Given the description of an element on the screen output the (x, y) to click on. 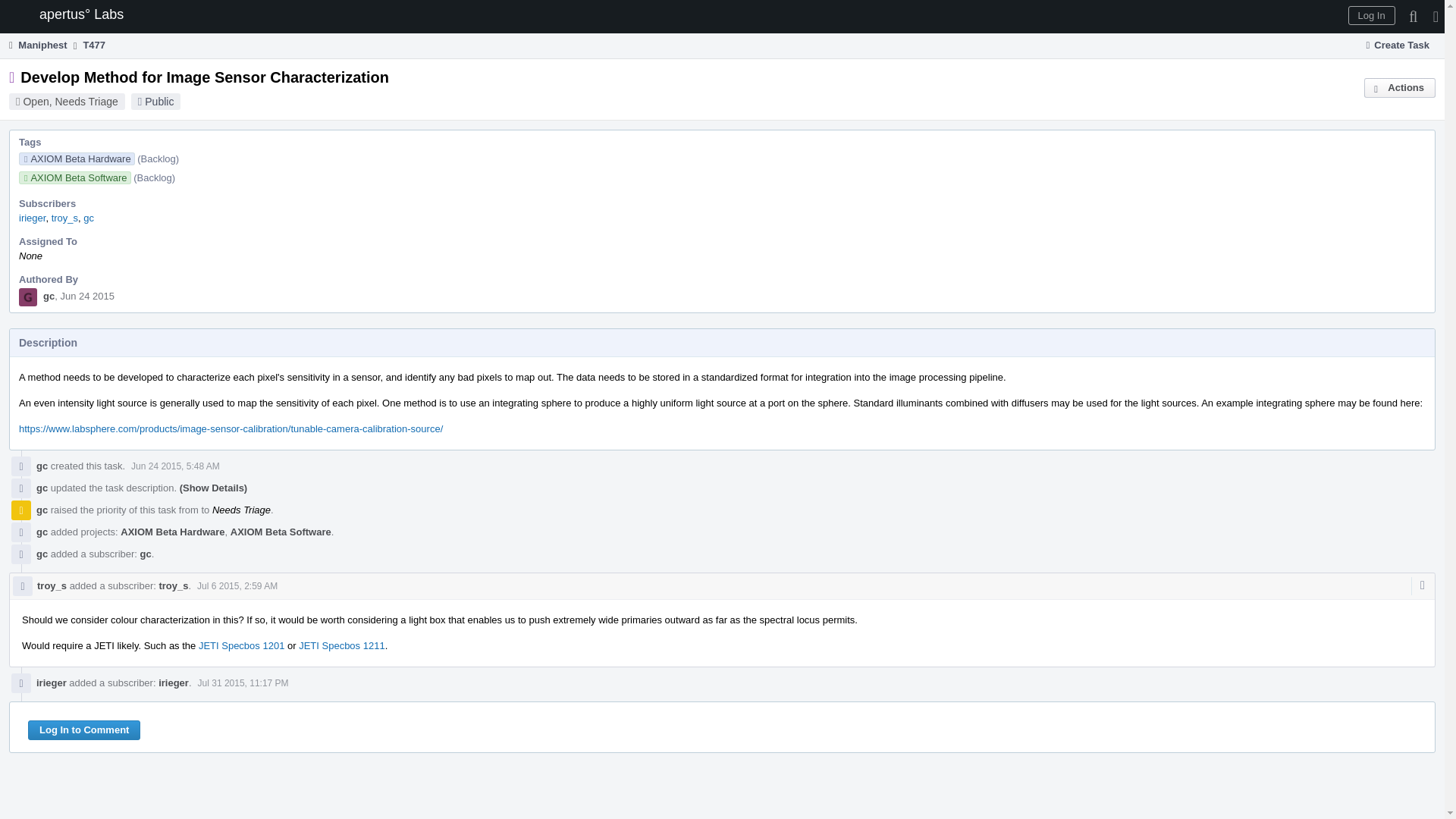
Public (158, 101)
Log In (1371, 15)
irieger (31, 217)
Actions (1399, 87)
AXIOM Beta Hardware (76, 158)
Create Task (1397, 45)
gc (88, 217)
gc (42, 465)
gc (42, 487)
Jun 24 2015, 5:48 AM (175, 466)
gc (49, 296)
AXIOM Beta Software (74, 177)
Maniphest (35, 44)
